Given the description of an element on the screen output the (x, y) to click on. 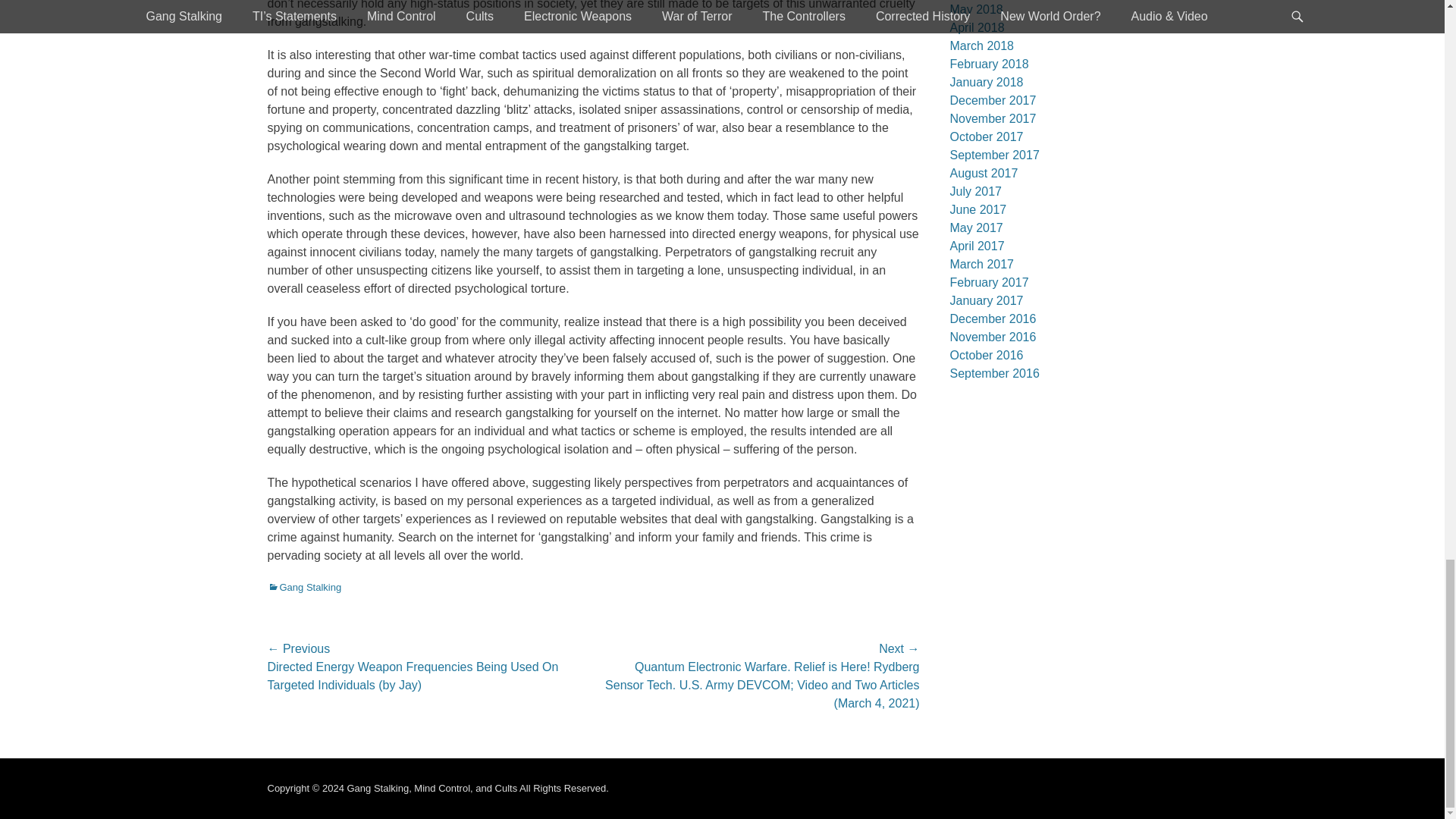
Gang Stalking (303, 586)
